Given the description of an element on the screen output the (x, y) to click on. 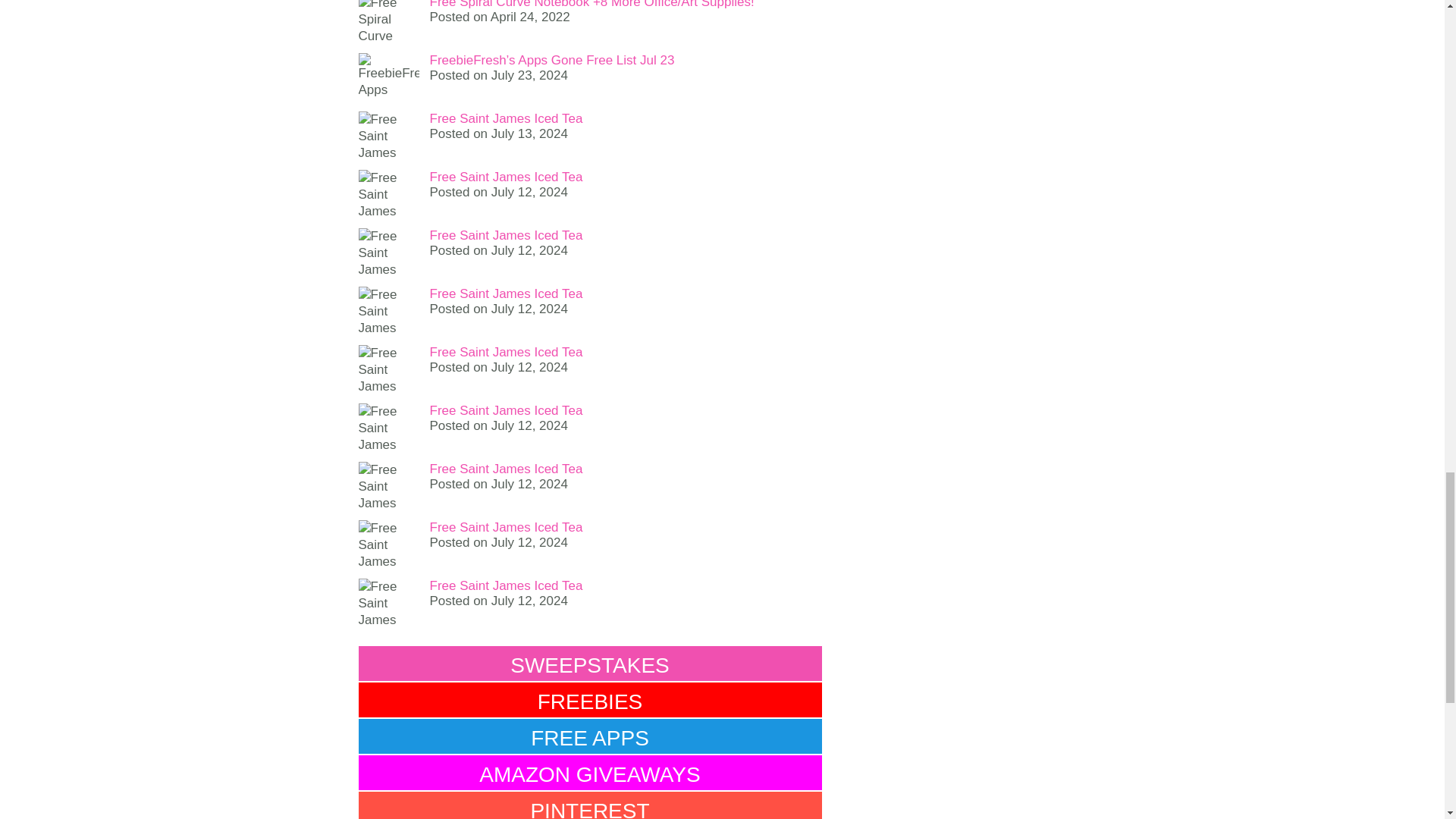
FREEBIES (589, 699)
SWEEPSTAKES (589, 663)
Free Saint James Iced Tea (505, 527)
Free Saint James Iced Tea (505, 351)
Free Saint James Iced Tea (505, 293)
Free Saint James Iced Tea (505, 410)
Free Saint James Iced Tea (505, 585)
Free Saint James Iced Tea (505, 176)
Free Saint James Iced Tea (505, 235)
Free Saint James Iced Tea (505, 118)
Free Saint James Iced Tea (505, 468)
FREE APPS (589, 736)
PINTEREST (589, 805)
AMAZON GIVEAWAYS (589, 772)
